Given the description of an element on the screen output the (x, y) to click on. 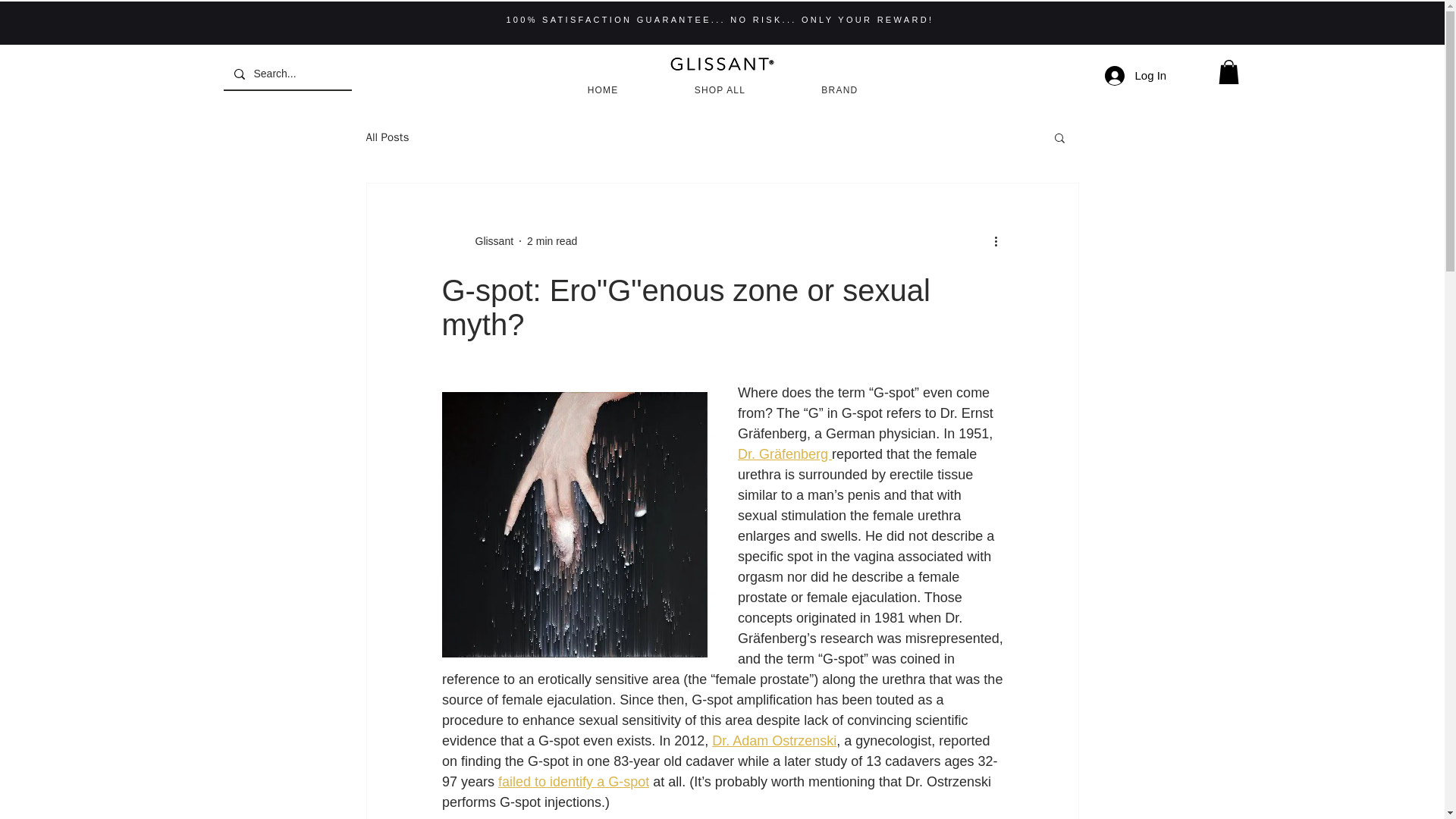
Glissant (489, 241)
HOME (601, 89)
2 min read (551, 241)
